Given the description of an element on the screen output the (x, y) to click on. 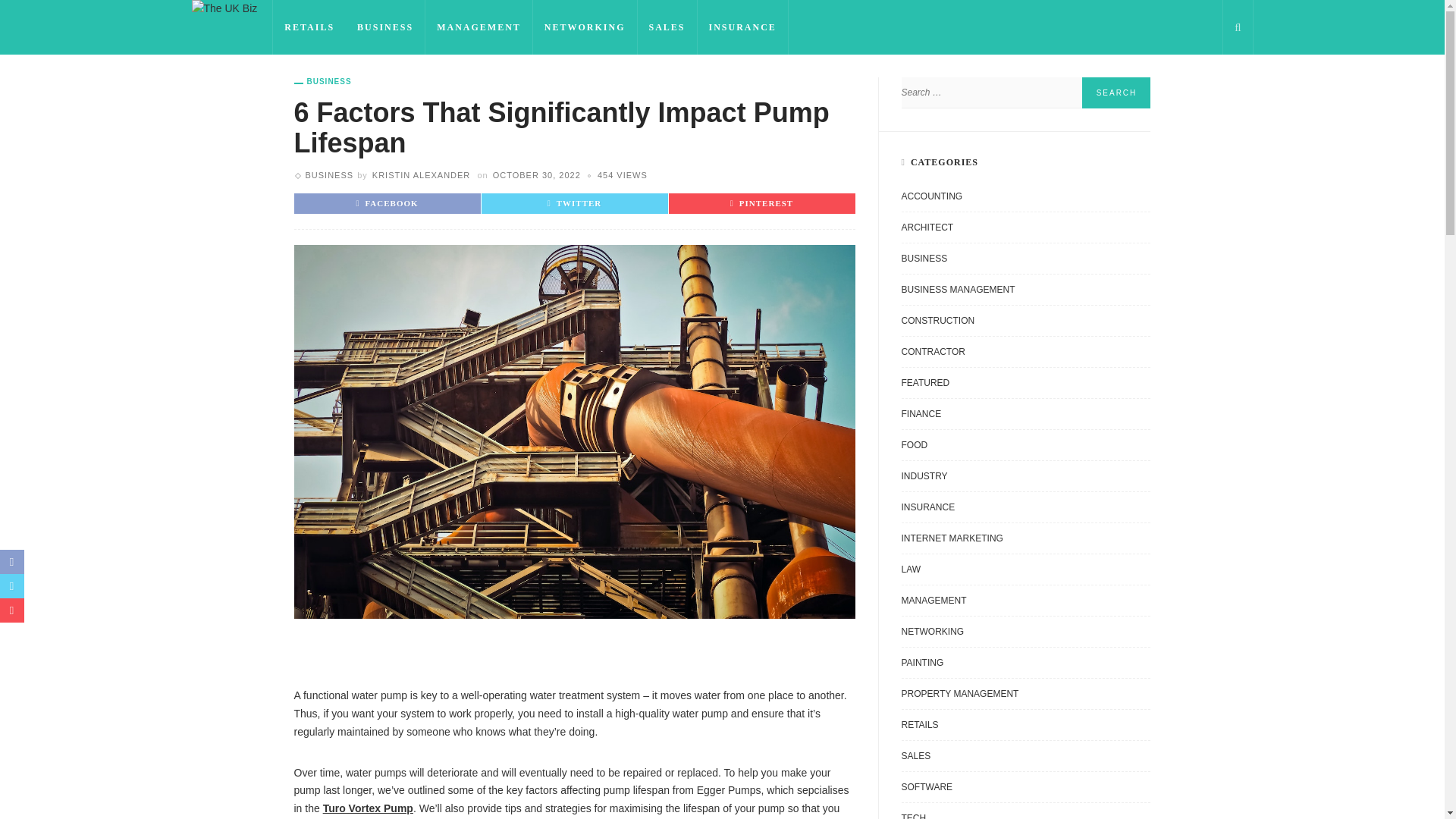
Business (323, 81)
Search (1115, 92)
The UK Biz (223, 8)
Search (1115, 92)
6 Factors That Significantly Impact Pump Lifespan (621, 174)
Business (328, 174)
